Given the description of an element on the screen output the (x, y) to click on. 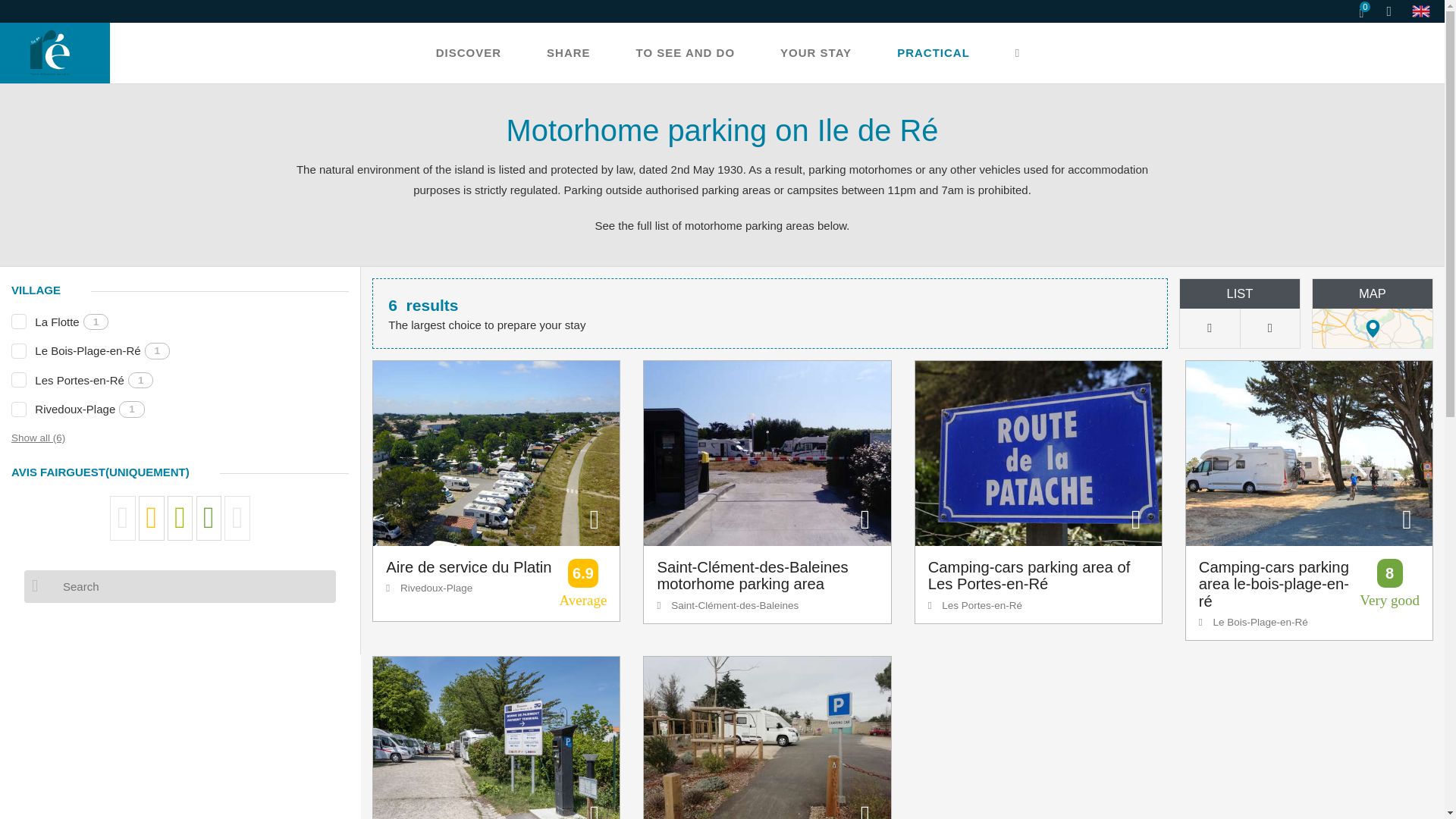
DISCOVER (468, 52)
Camper van parking area (766, 737)
Motorhome parking  (1423, 13)
Aire de service du Platin (496, 453)
EN (1423, 13)
SHARE (568, 52)
